Given the description of an element on the screen output the (x, y) to click on. 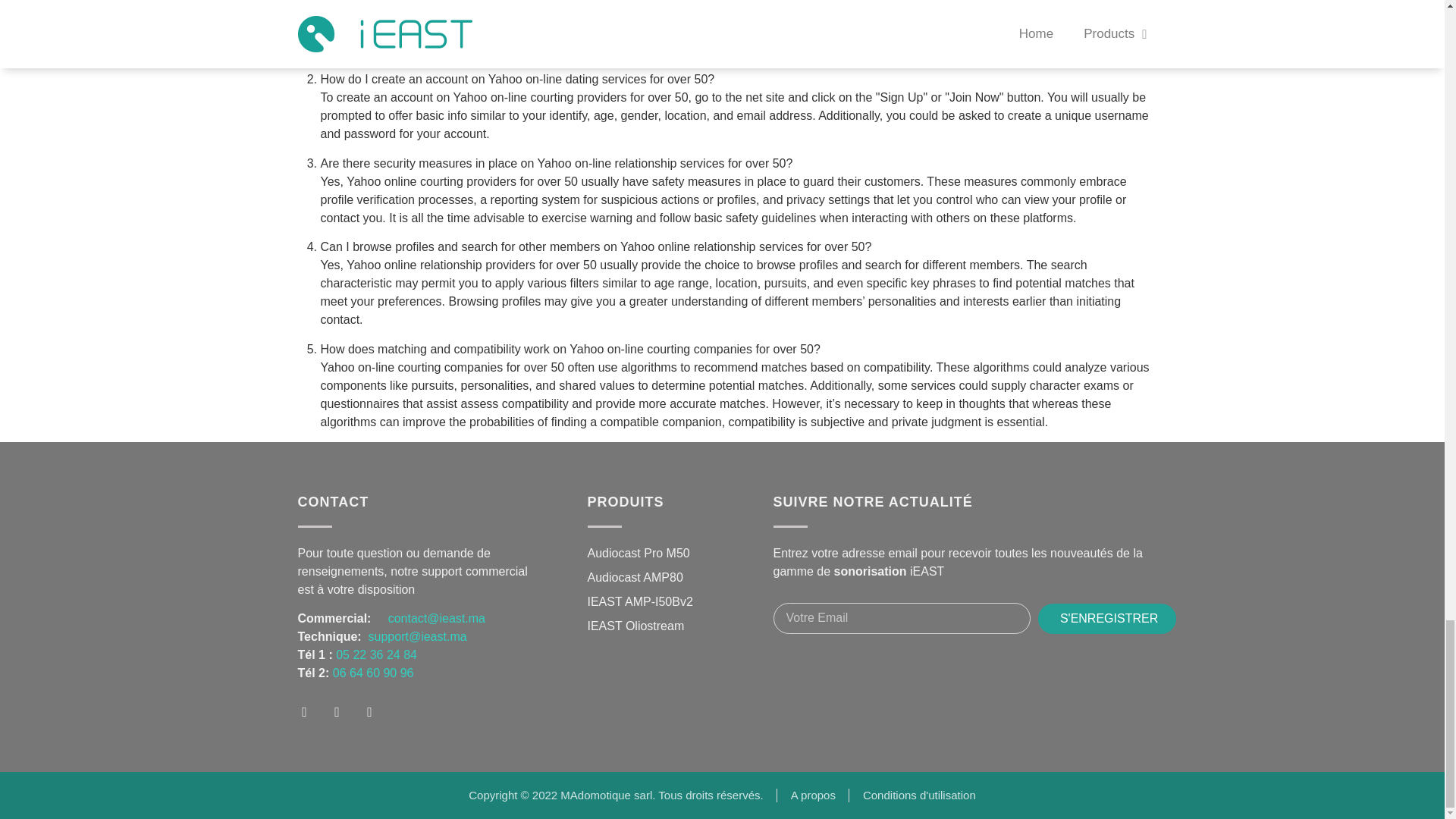
Audiocast AMP80 (634, 577)
05 22 36 24 84 (374, 654)
IEAST AMP-I50Bv2 (639, 601)
IEAST Oliostream (635, 626)
S'ENREGISTRER (1107, 618)
06 64 60 90 96 (371, 672)
Audiocast Pro M50 (637, 553)
